Given the description of an element on the screen output the (x, y) to click on. 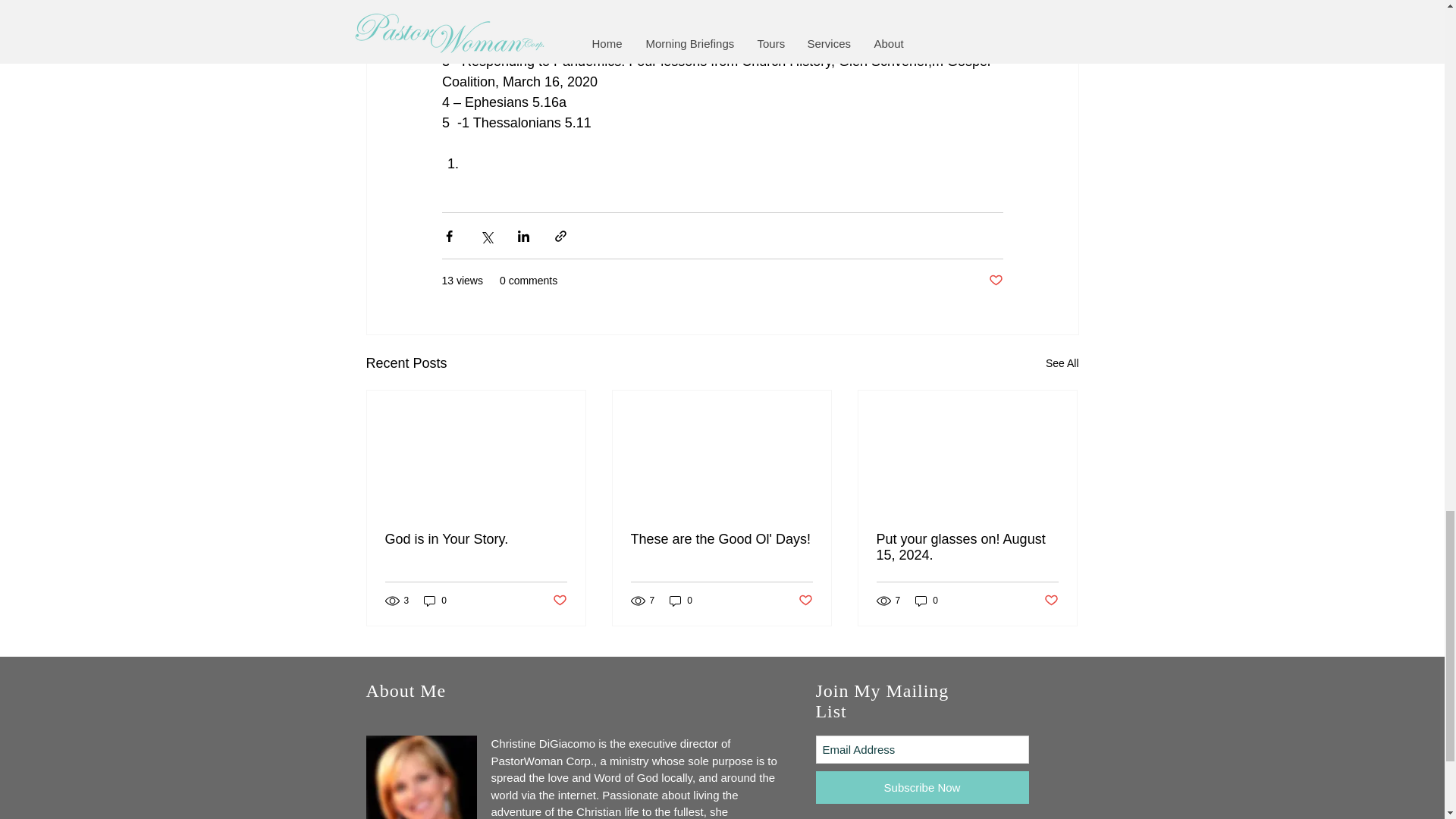
Post not marked as liked (804, 600)
These are the Good Ol' Days! (721, 539)
0 (435, 599)
God is in Your Story. (476, 539)
Post not marked as liked (558, 600)
See All (1061, 363)
Post not marked as liked (995, 280)
0 (681, 599)
Put your glasses on! August 15, 2024. (967, 547)
